Given the description of an element on the screen output the (x, y) to click on. 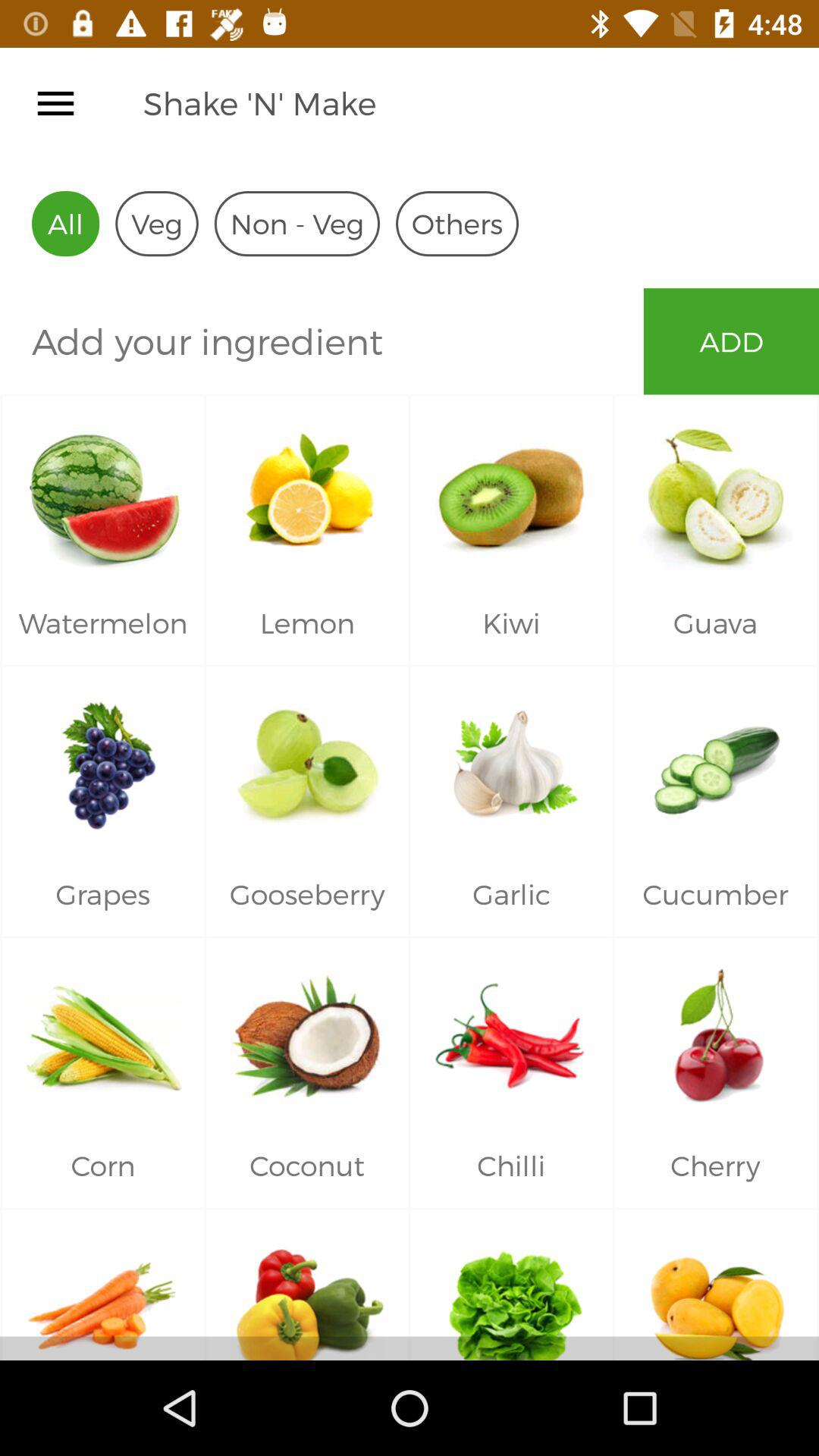
menu sidebar (55, 103)
